Given the description of an element on the screen output the (x, y) to click on. 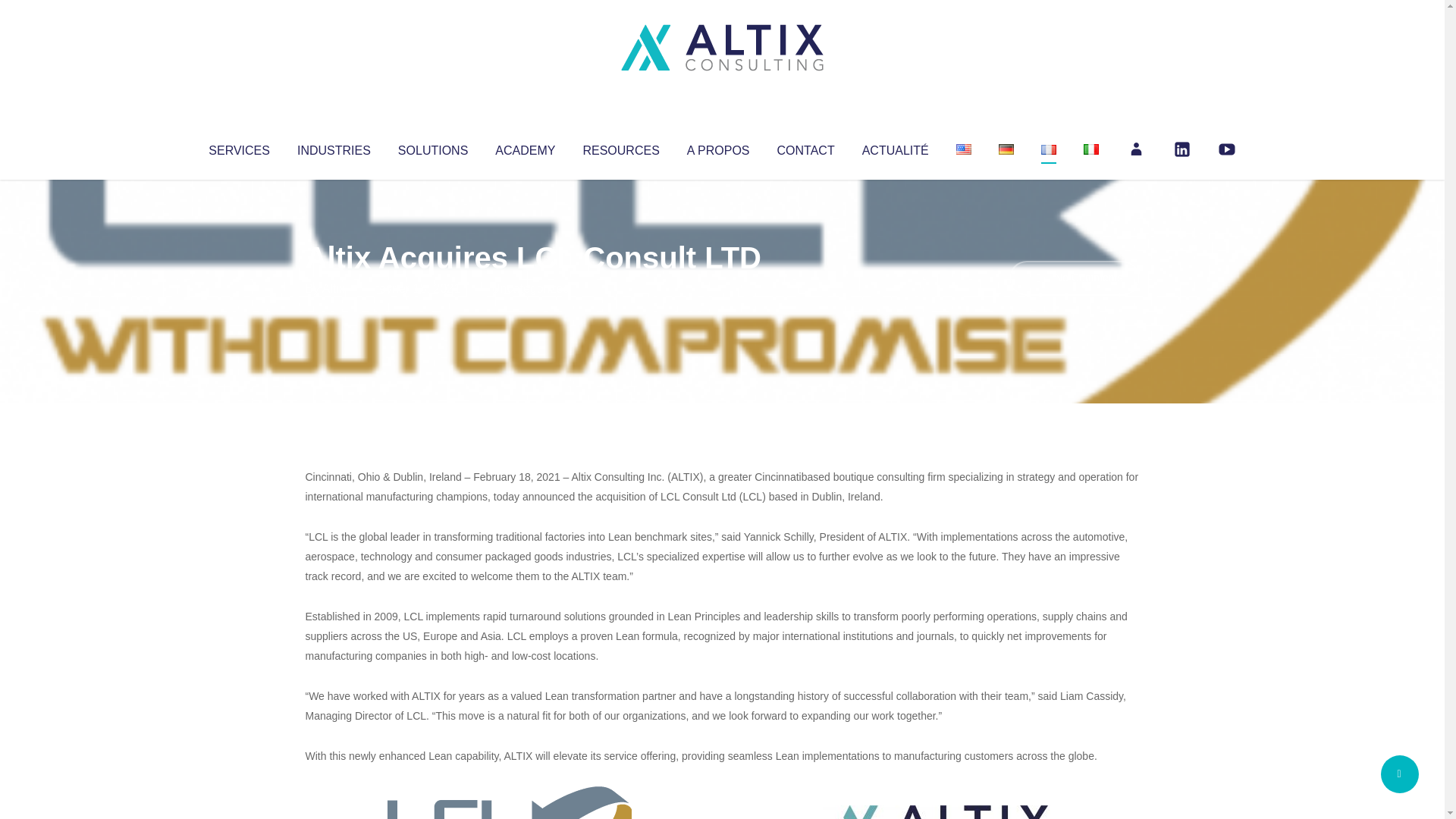
ACADEMY (524, 146)
A PROPOS (718, 146)
Uncategorized (530, 287)
Altix (333, 287)
Articles par Altix (333, 287)
SERVICES (238, 146)
SOLUTIONS (432, 146)
RESOURCES (620, 146)
INDUSTRIES (334, 146)
No Comments (1073, 278)
